Given the description of an element on the screen output the (x, y) to click on. 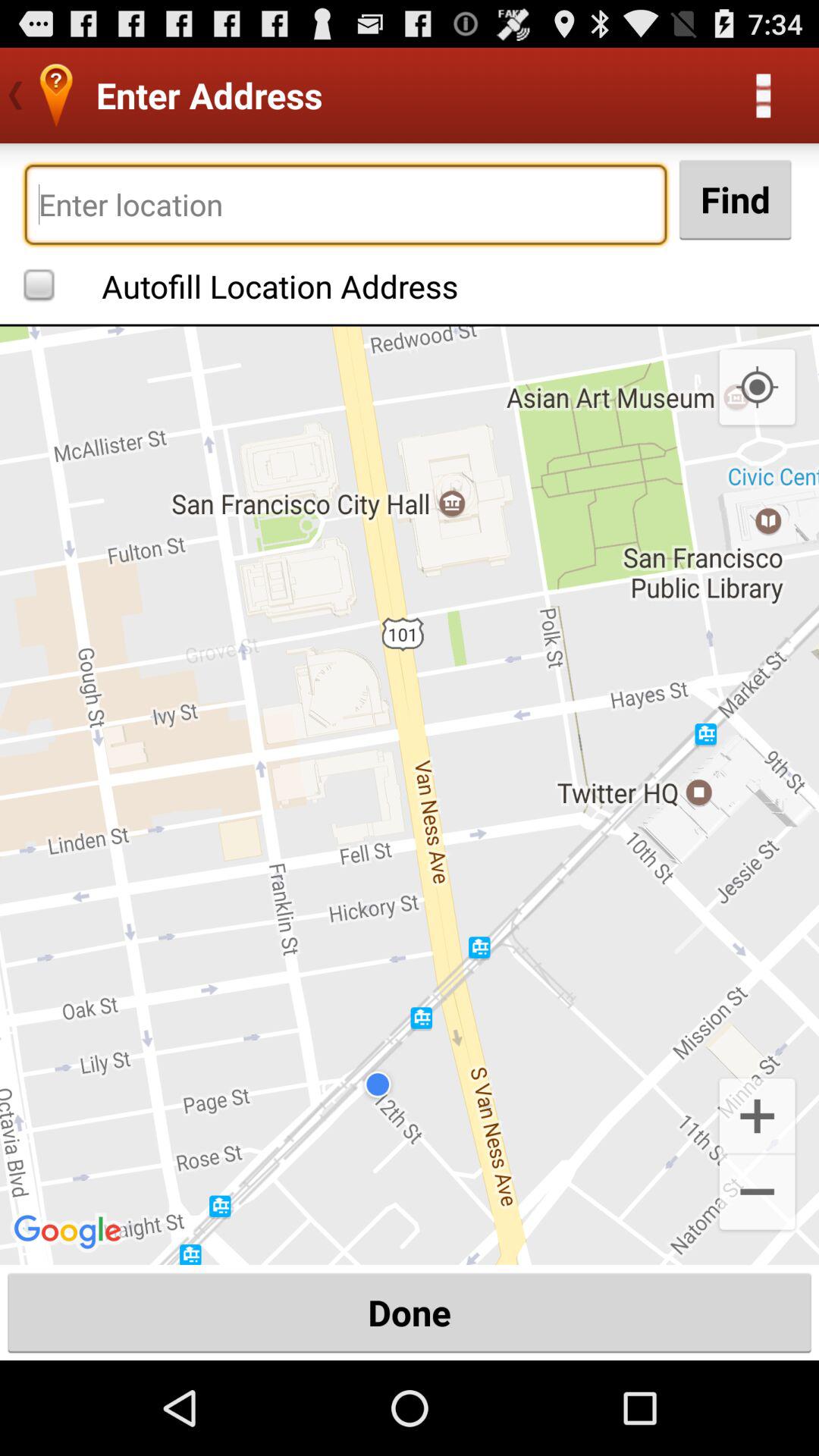
choose icon above the autofill location address checkbox (345, 204)
